Given the description of an element on the screen output the (x, y) to click on. 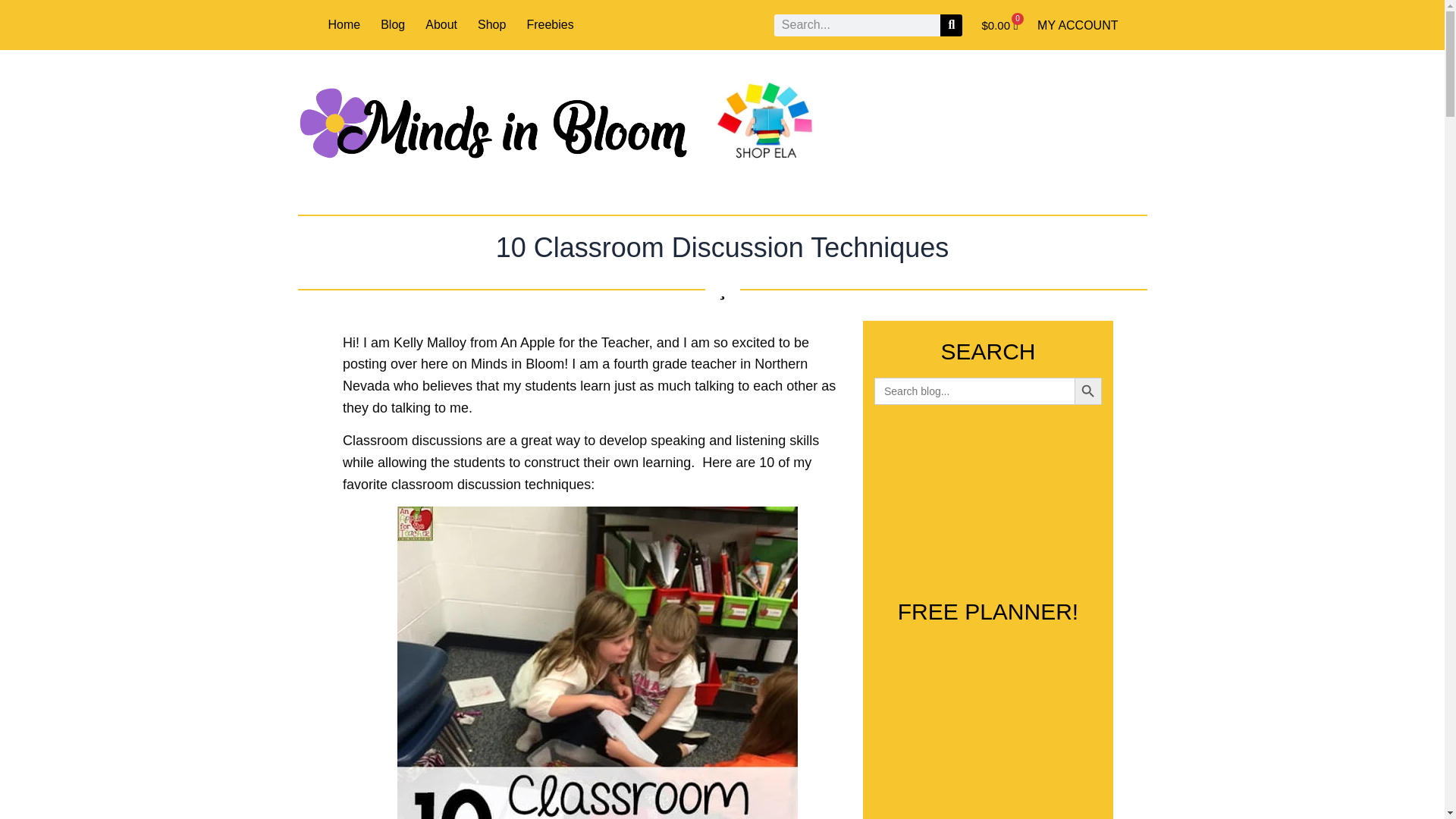
About (440, 24)
Shop (491, 24)
Freebies (549, 24)
Home (343, 24)
